Given the description of an element on the screen output the (x, y) to click on. 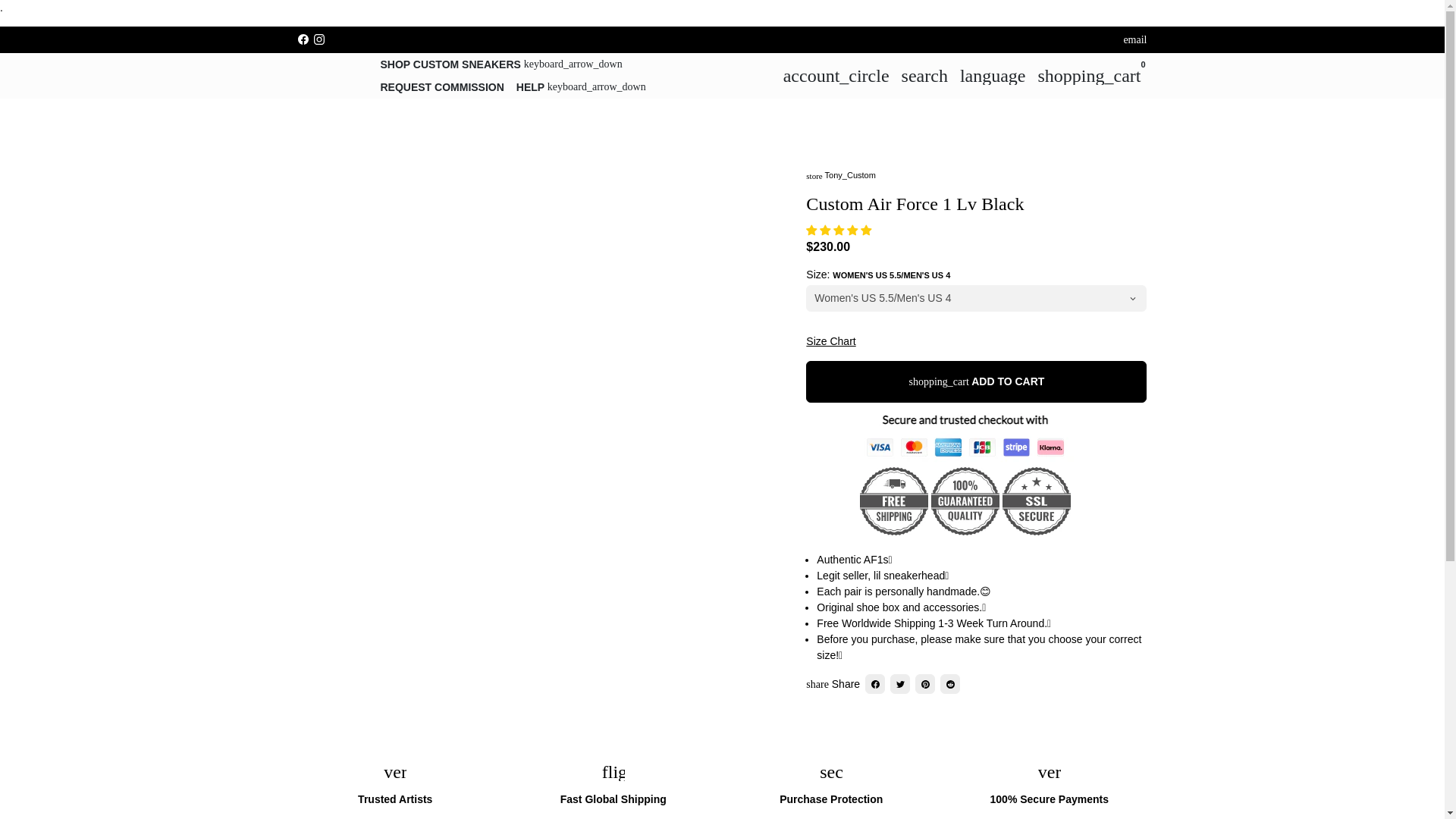
search (924, 75)
Tweet on Twitter (899, 683)
Lilaccustom on Facebook (302, 39)
REQUEST COMMISSION (442, 87)
Cart (1089, 75)
language (992, 75)
Lilaccustom on Instagram (319, 39)
email (1134, 39)
Log In (836, 75)
Share on Facebook (874, 683)
Search (924, 75)
